Given the description of an element on the screen output the (x, y) to click on. 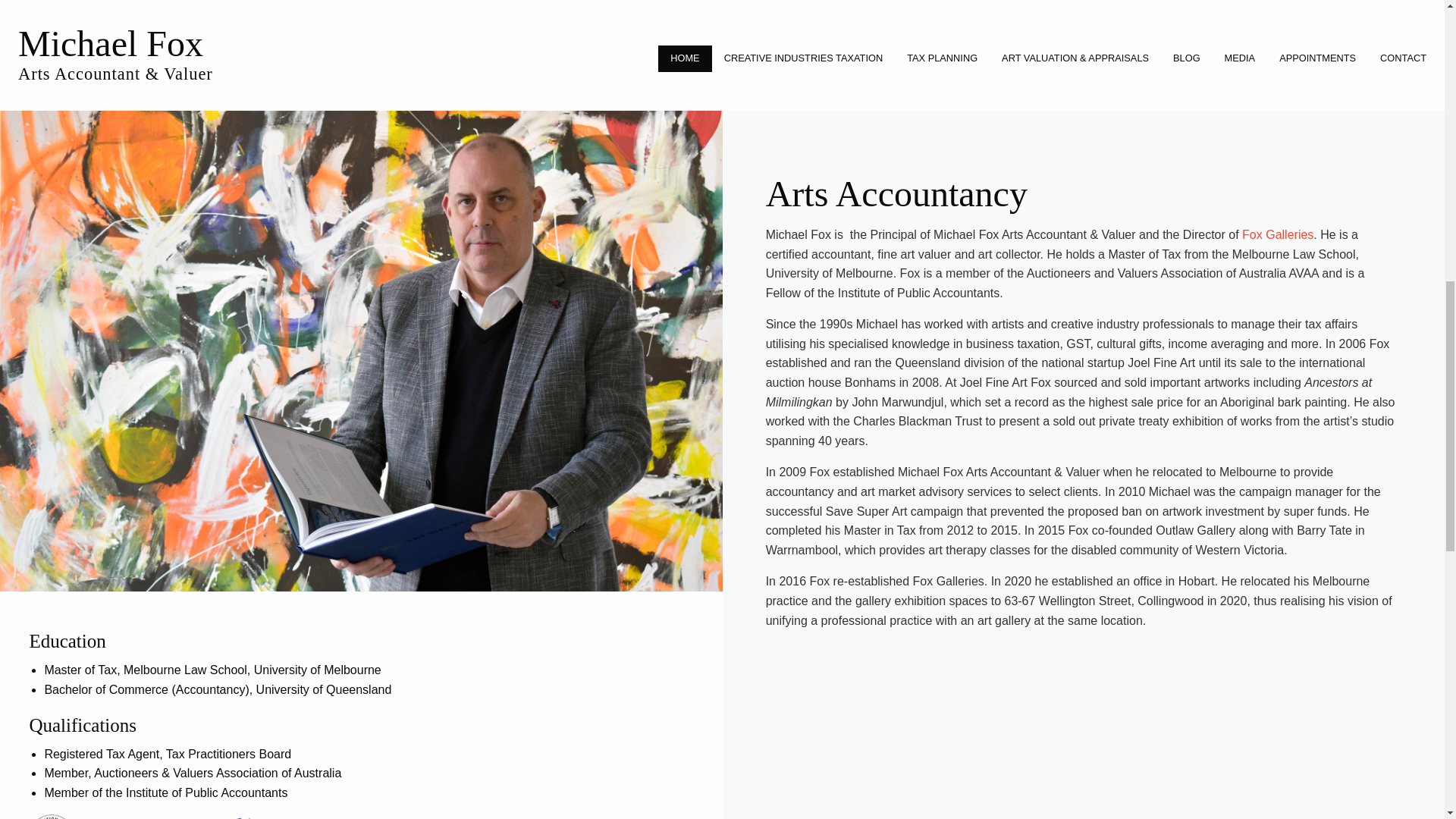
HOME (684, 58)
CREATIVE INDUSTRIES TAXATION (803, 58)
TAX PLANNING (942, 58)
APPOINTMENTS (1317, 58)
MEDIA (1240, 58)
Fox Galleries (1277, 234)
BLOG (1186, 58)
CONTACT (1403, 58)
MENU (45, 2)
